Given the description of an element on the screen output the (x, y) to click on. 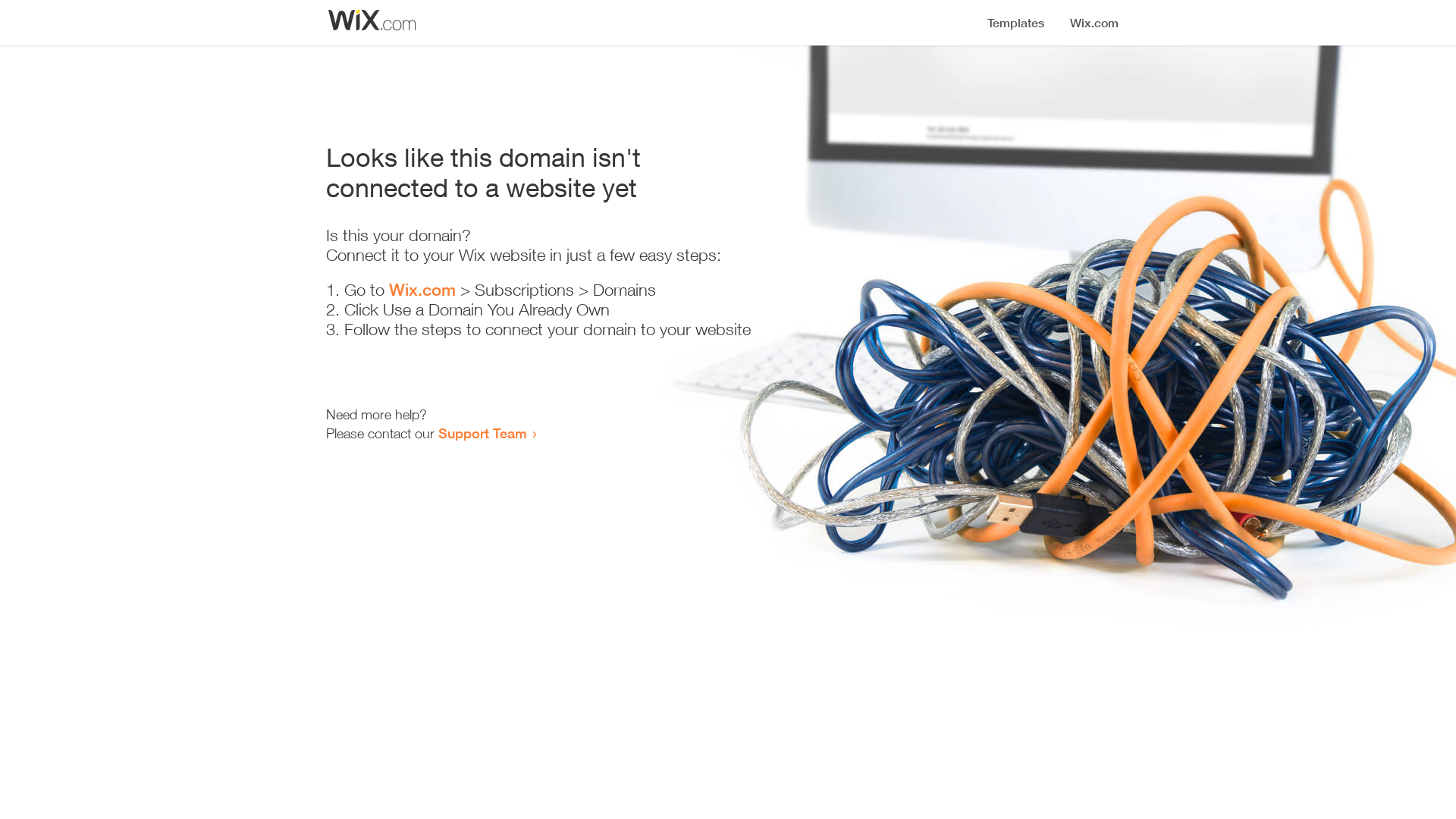
Support Team Element type: text (482, 432)
Wix.com Element type: text (422, 289)
